Given the description of an element on the screen output the (x, y) to click on. 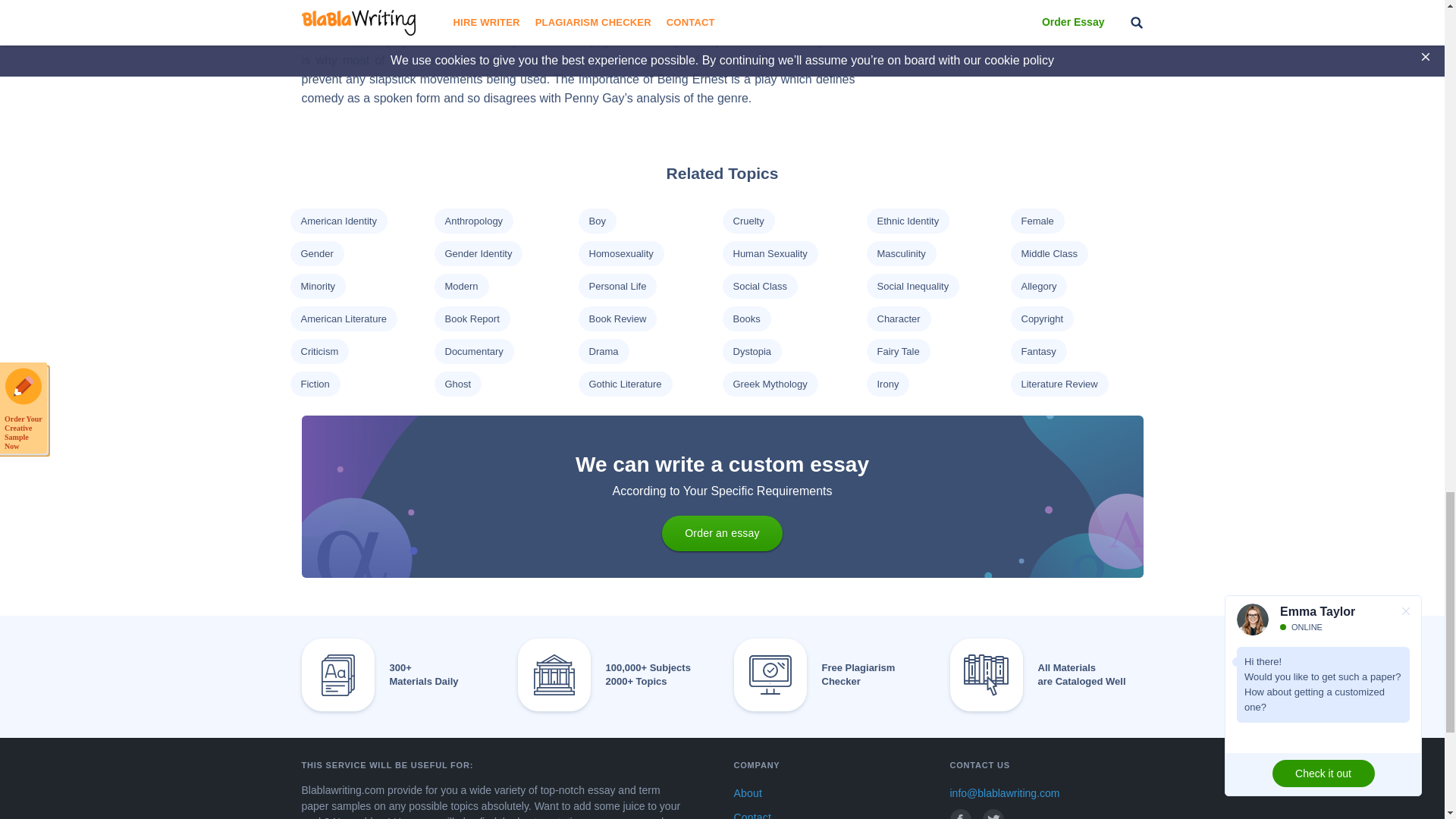
Minority (316, 285)
Female (1036, 220)
Homosexuality (620, 253)
Boy (596, 220)
Anthropology (473, 220)
Social Class (759, 285)
Human Sexuality (769, 253)
American Identity (337, 220)
Middle Class (1048, 253)
Personal Life (617, 285)
Gender (316, 253)
Masculinity (900, 253)
Gender Identity (478, 253)
Cruelty (747, 220)
Modern (460, 285)
